Given the description of an element on the screen output the (x, y) to click on. 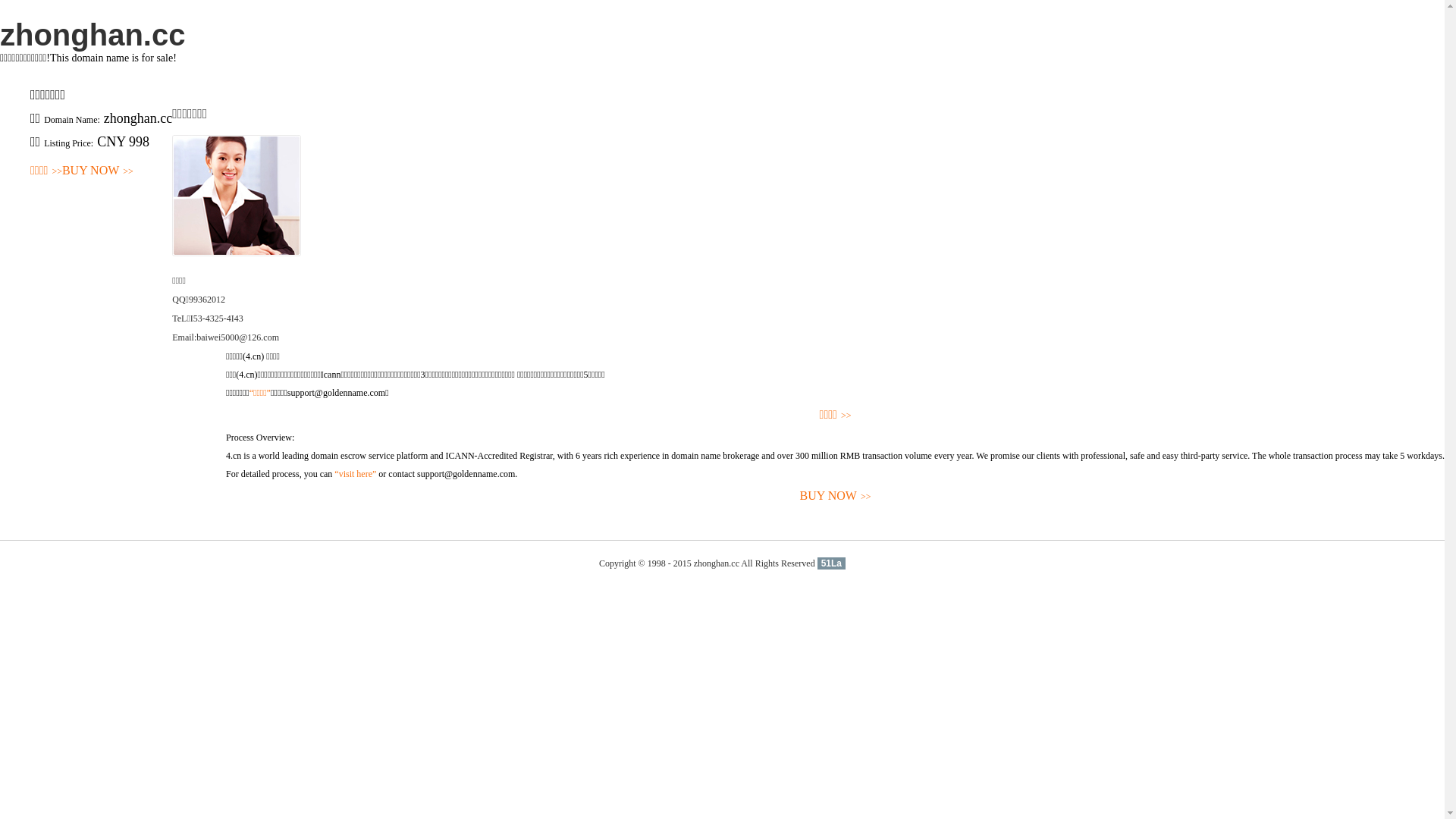
BUY NOW>> Element type: text (97, 170)
51La Element type: text (831, 563)
BUY NOW>> Element type: text (834, 496)
